Given the description of an element on the screen output the (x, y) to click on. 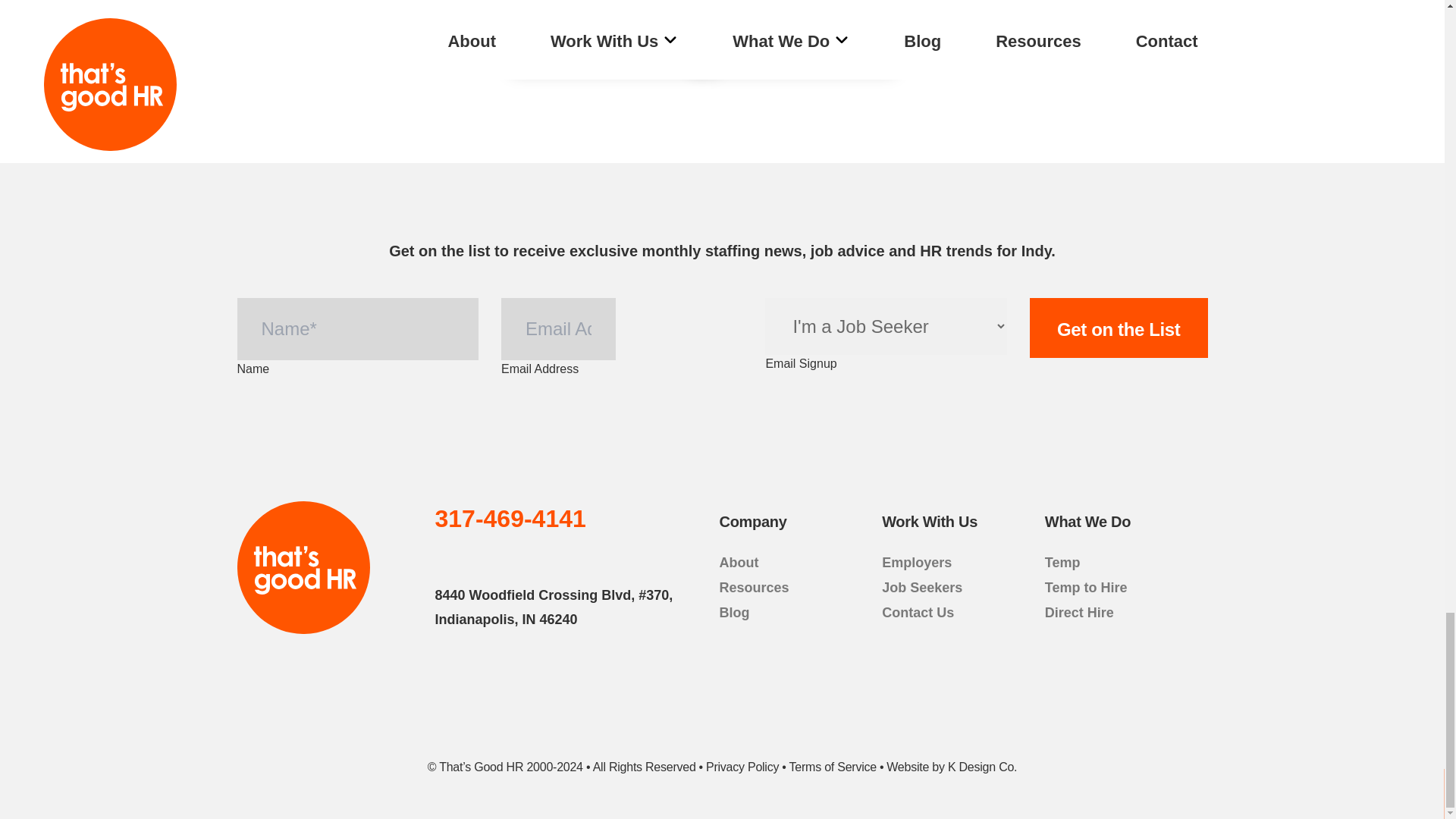
317-469-4141 (510, 519)
Link to Twitter (480, 557)
Link to Instagram (547, 557)
About (738, 562)
Link to Linkedin (1118, 328)
Resources (514, 557)
